Given the description of an element on the screen output the (x, y) to click on. 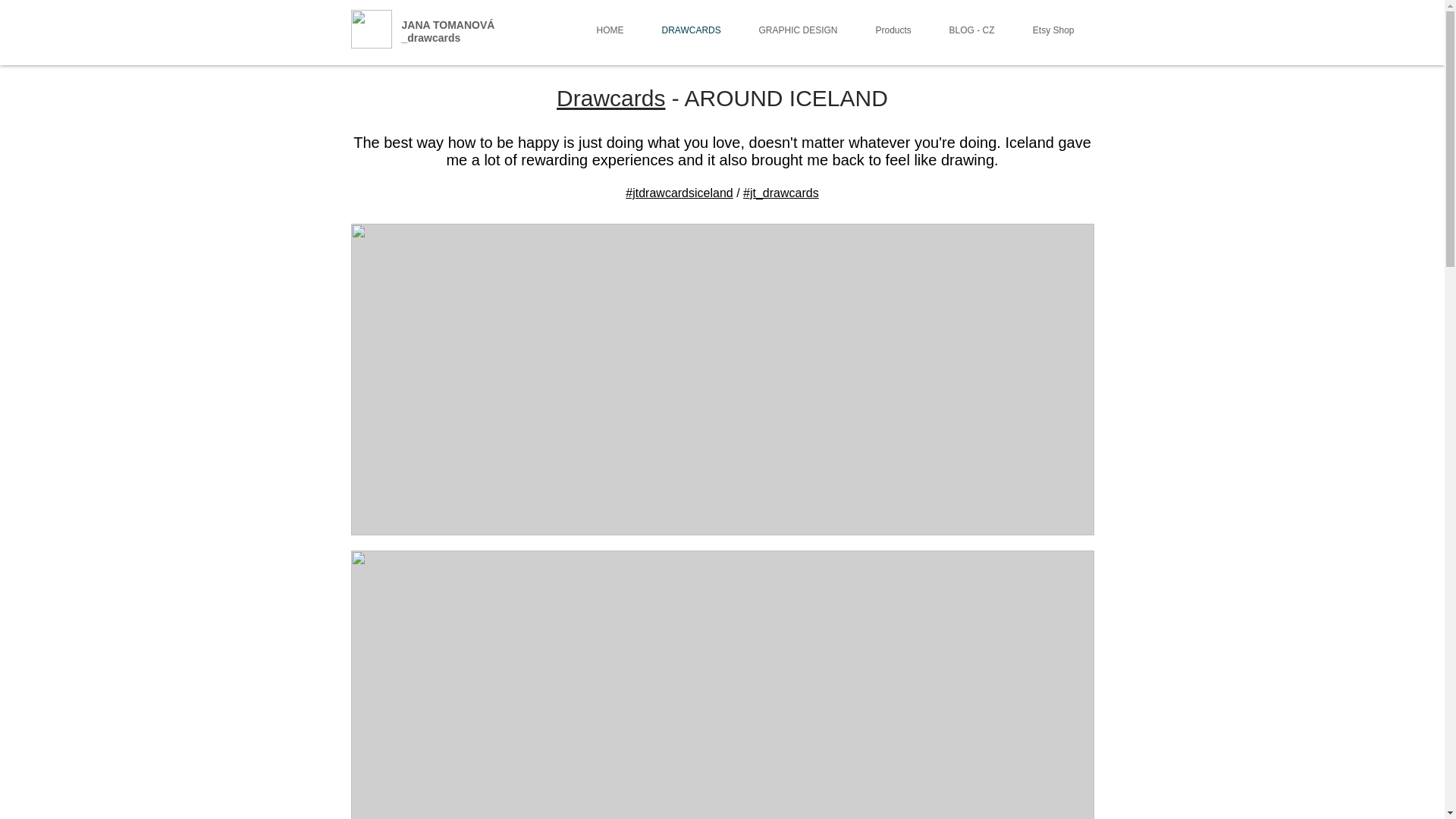
Products (893, 30)
DRAWCARDS (691, 30)
Drawcards (610, 97)
Etsy Shop (1053, 30)
HOME (610, 30)
GRAPHIC DESIGN (798, 30)
BLOG - CZ (971, 30)
